Given the description of an element on the screen output the (x, y) to click on. 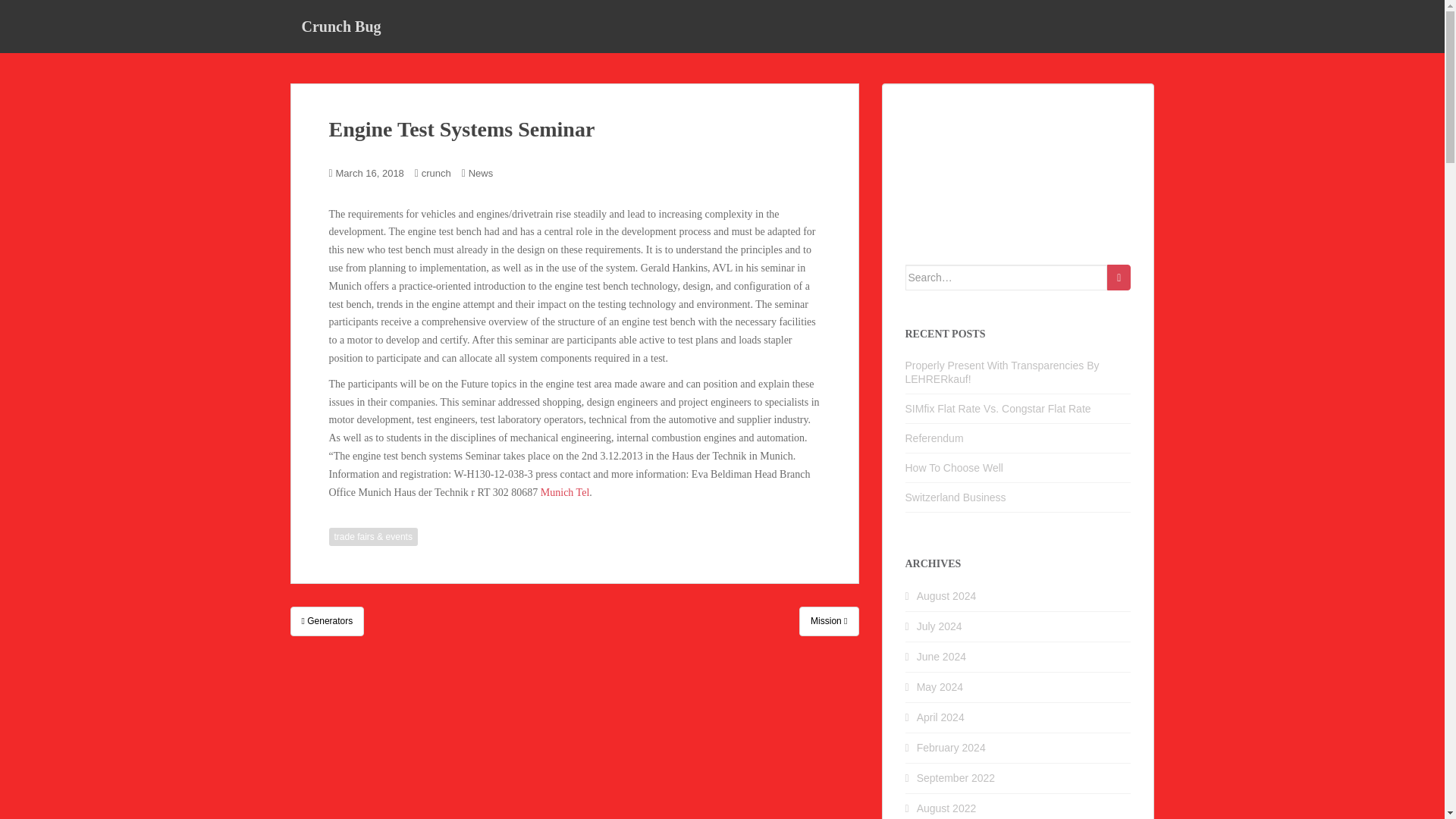
Crunch Bug (340, 26)
March 16, 2018 (370, 173)
How To Choose Well (954, 467)
Generators (326, 620)
May 2024 (939, 686)
Mission (829, 620)
September 2022 (956, 777)
April 2024 (940, 717)
Referendum (934, 438)
Switzerland Business (955, 497)
